Given the description of an element on the screen output the (x, y) to click on. 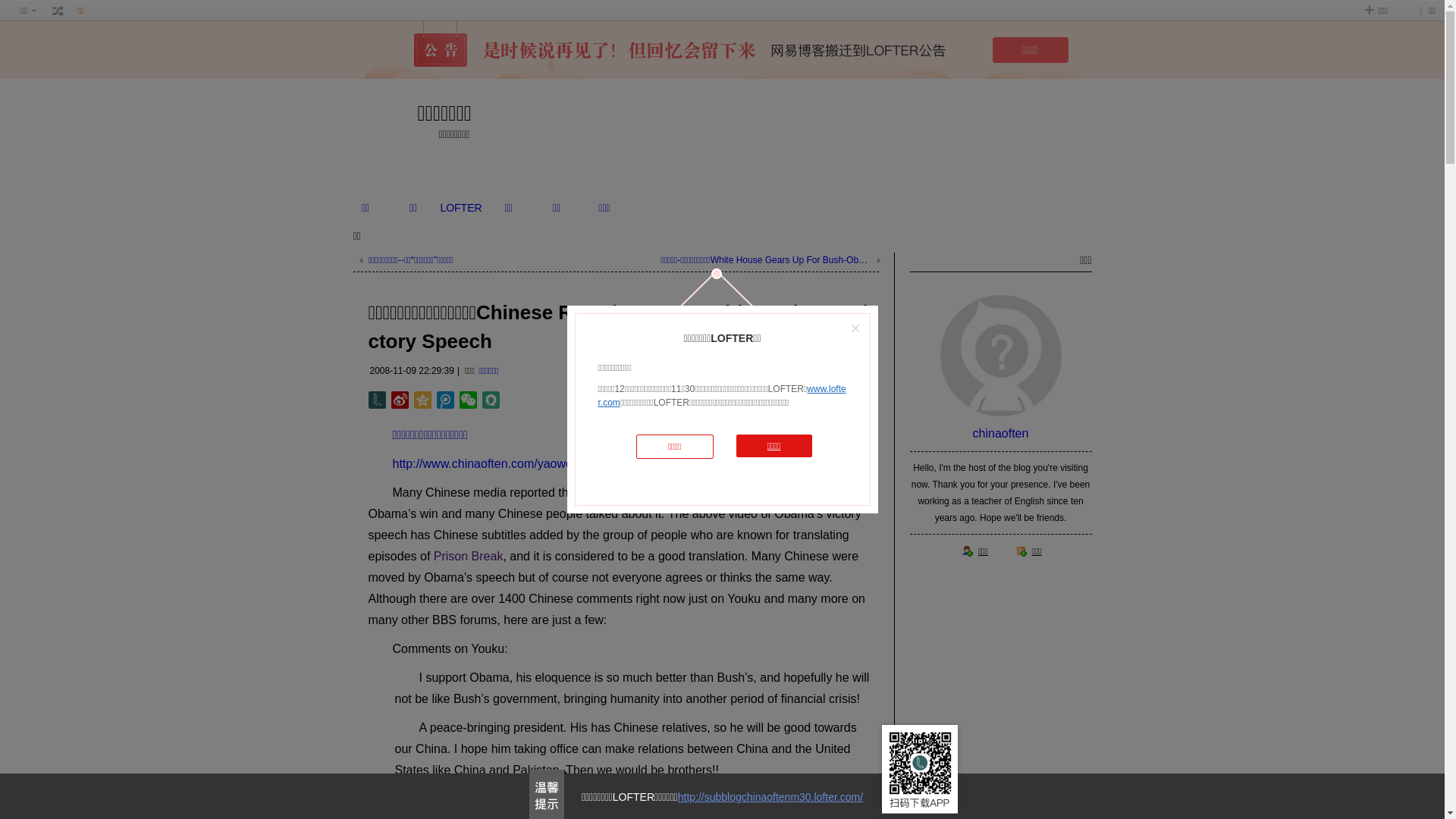
  Element type: text (58, 10)
chinaoften Element type: text (1000, 432)
Prison Break Element type: text (468, 555)
www.lofter.com Element type: text (721, 395)
LOFTER Element type: text (460, 207)
http://subblogchinaoftenm30.lofter.com/ Element type: text (769, 796)
